Given the description of an element on the screen output the (x, y) to click on. 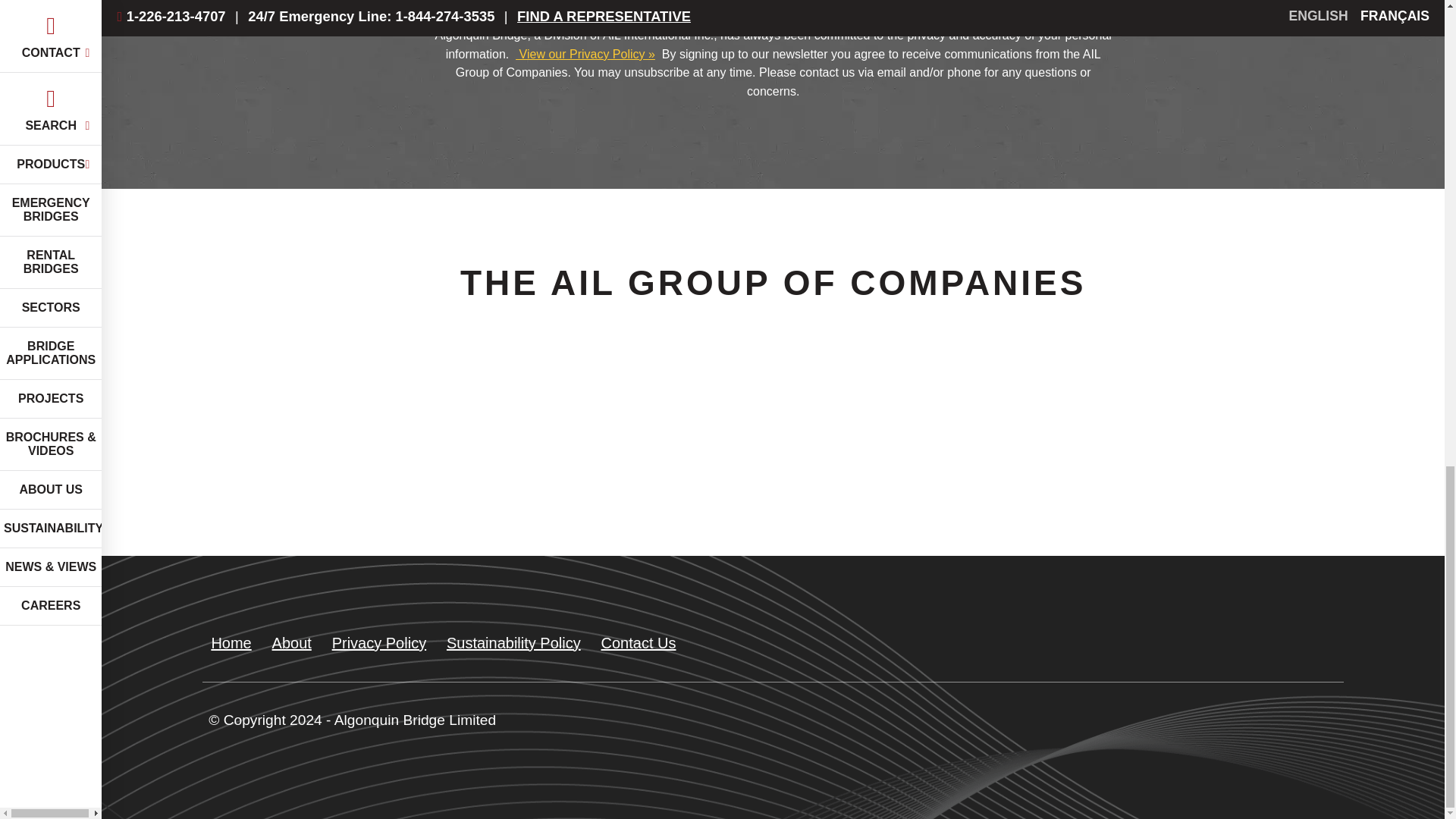
Algonquin Bridge (556, 462)
AIL Soundwalls (1013, 462)
AIL Mining (1241, 462)
AIL Internatinoal (784, 462)
AIL (328, 462)
